Given the description of an element on the screen output the (x, y) to click on. 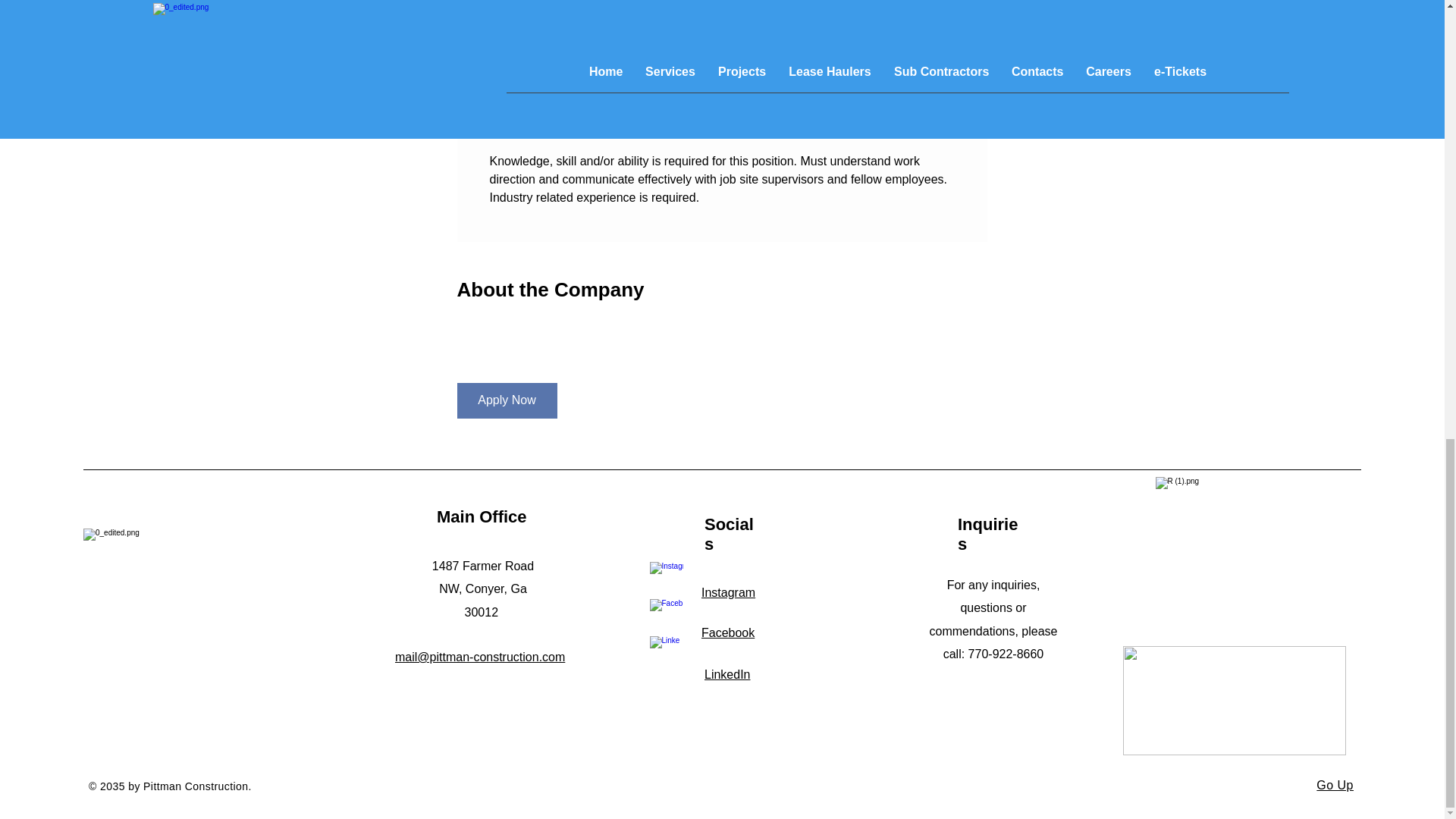
Go Up (1335, 784)
Apply Now (506, 400)
Facebook (727, 632)
Instagram (728, 592)
LinkedIn (727, 674)
